Given the description of an element on the screen output the (x, y) to click on. 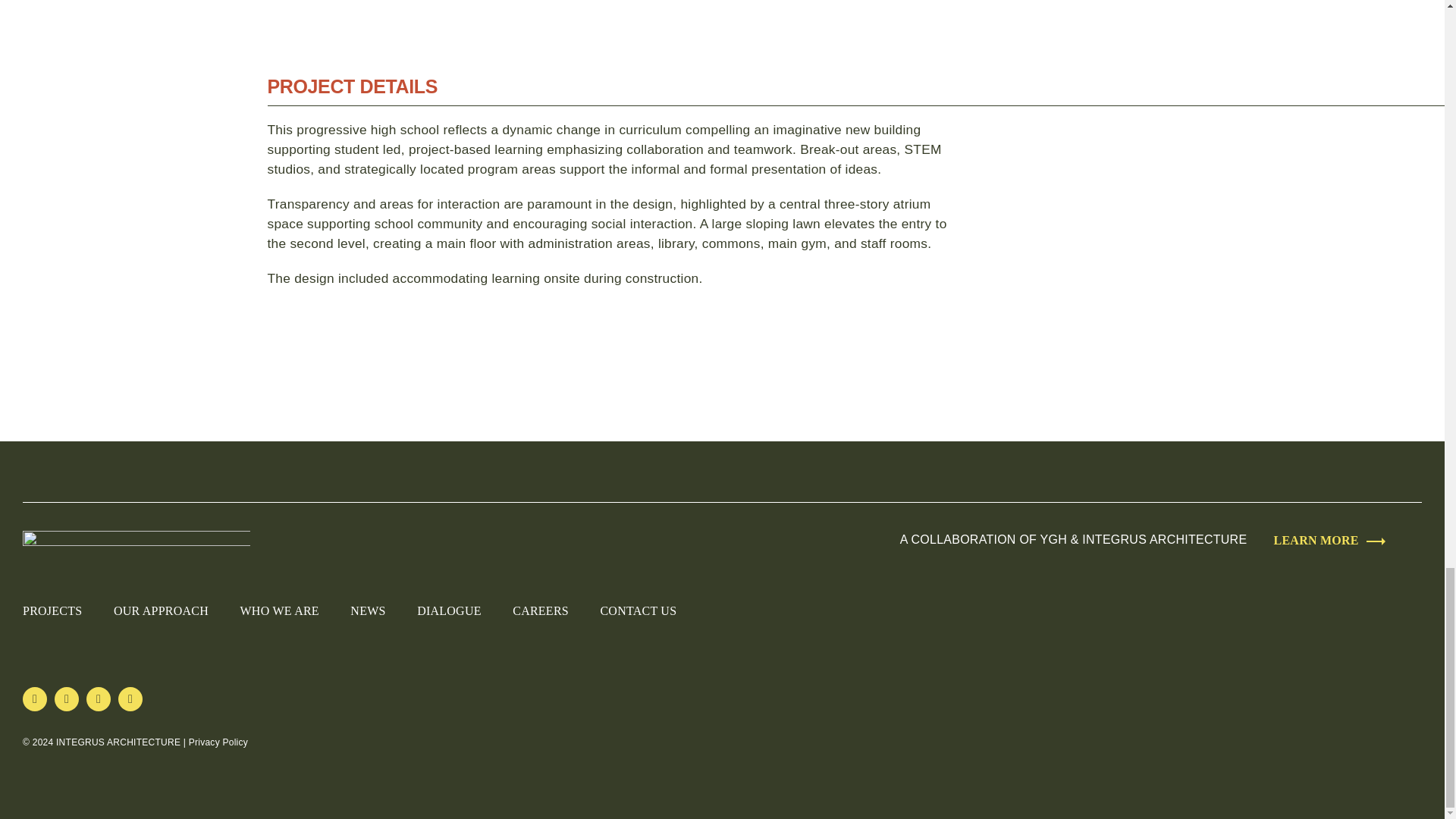
CAREERS (540, 610)
CONTACT US (638, 610)
PROJECTS (52, 610)
WHO WE ARE (279, 610)
LEARN MORE (1316, 540)
NEWS (367, 610)
DIALOGUE (448, 610)
OUR APPROACH (160, 610)
Privacy Policy (218, 742)
